Given the description of an element on the screen output the (x, y) to click on. 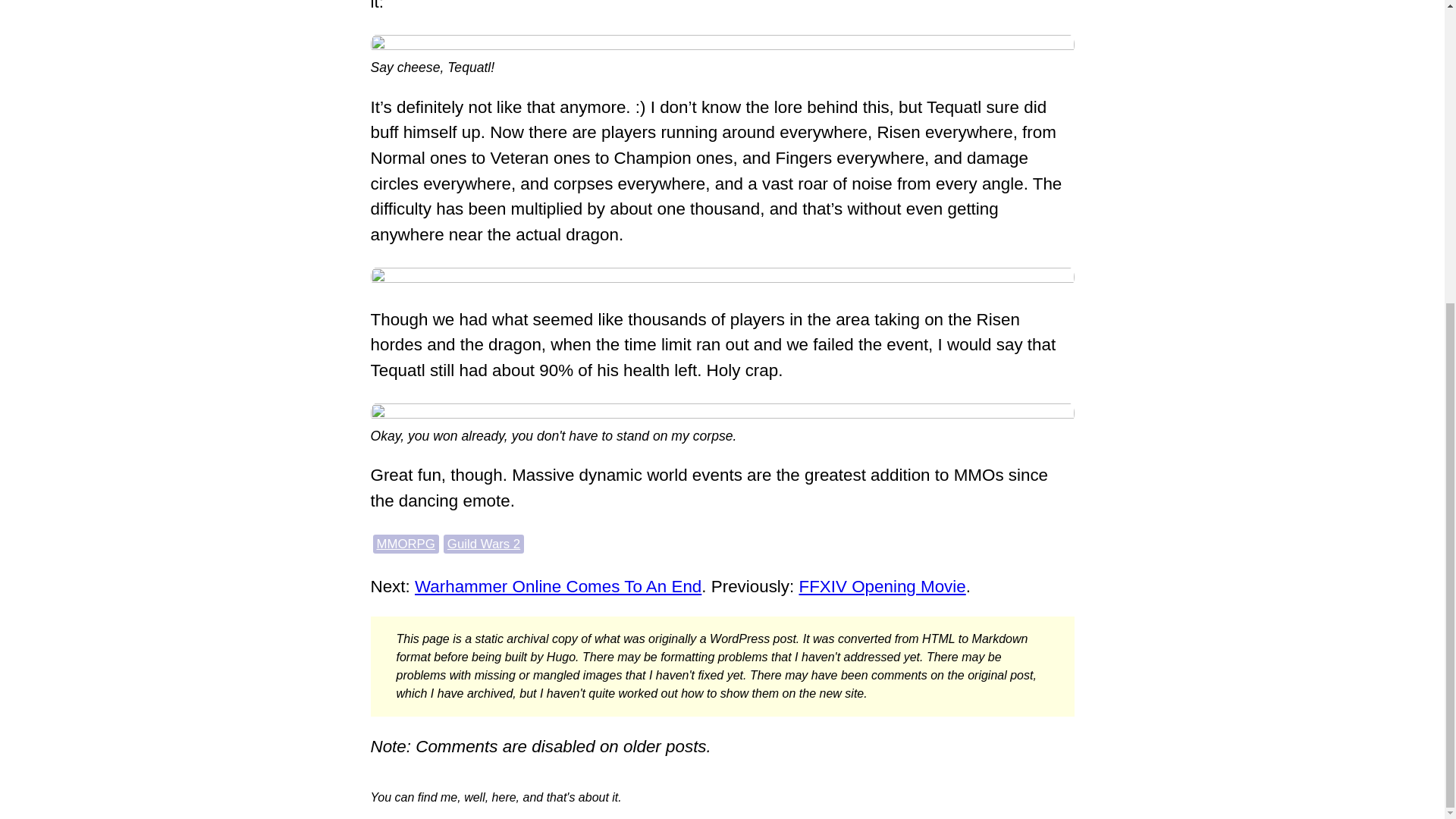
Warhammer Online Comes To An End (557, 586)
FFXIV Opening Movie (881, 586)
MMORPG (404, 544)
Guild Wars 2 (482, 544)
